Given the description of an element on the screen output the (x, y) to click on. 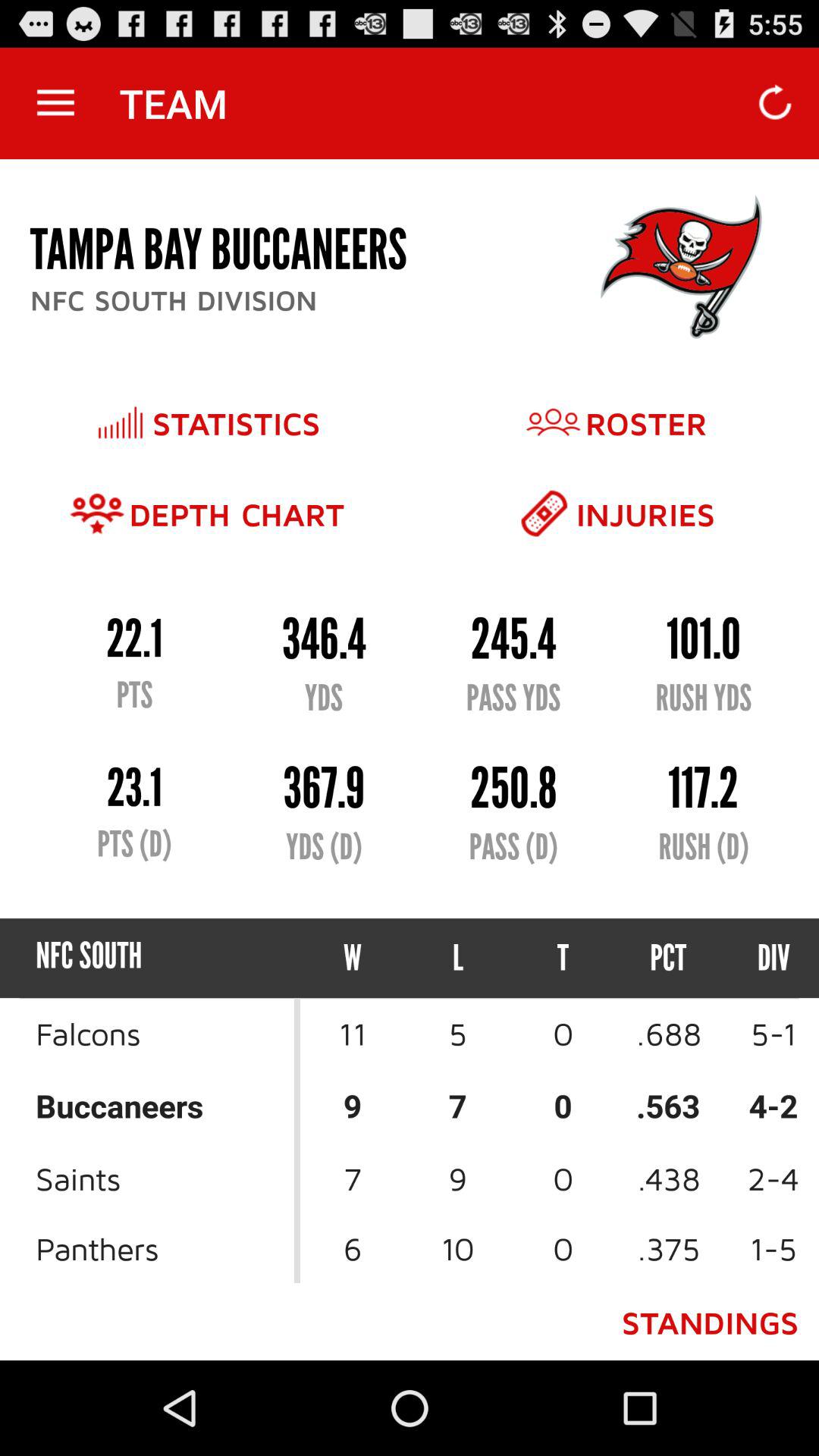
tap item to the right of pct (760, 958)
